Given the description of an element on the screen output the (x, y) to click on. 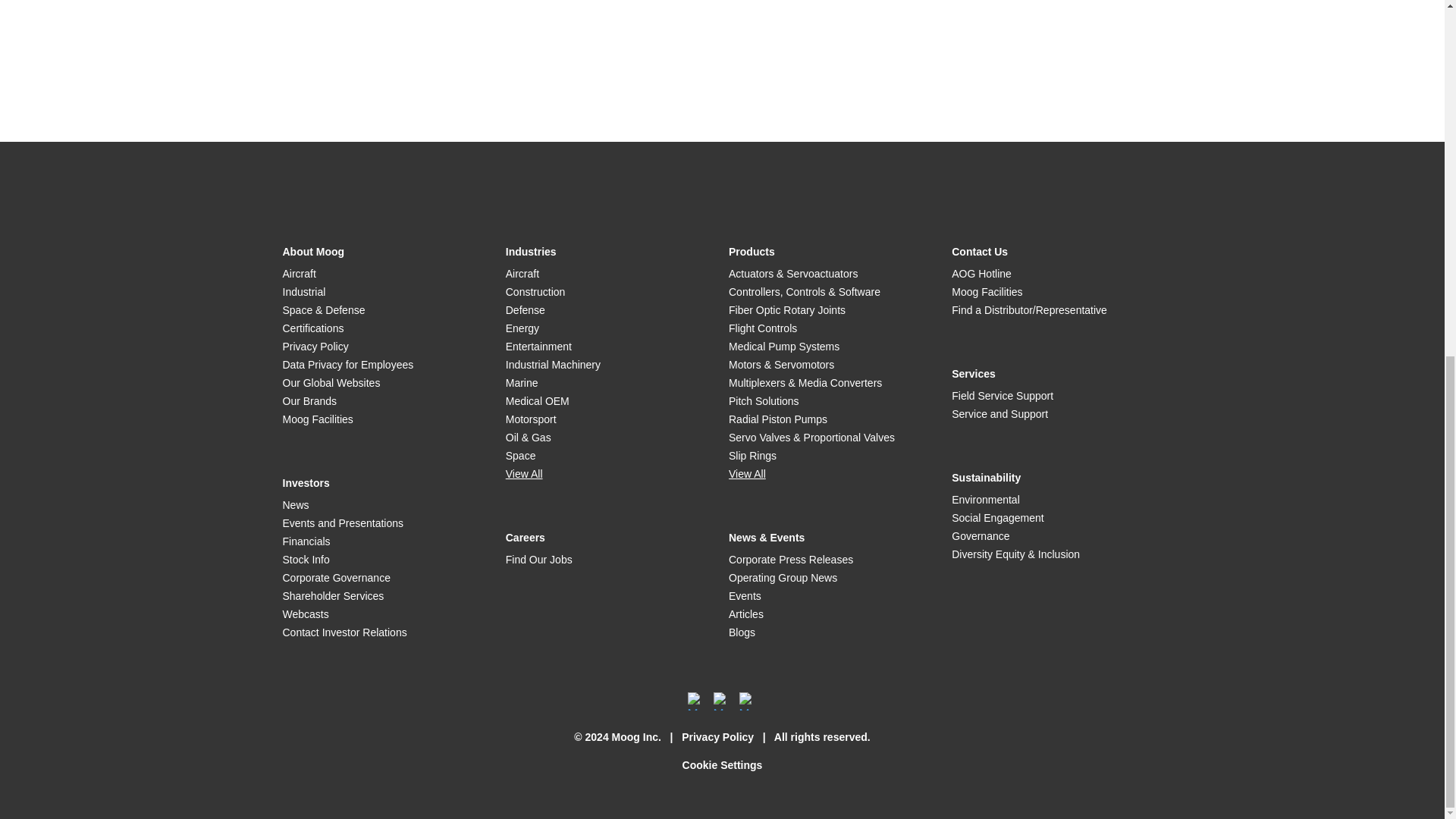
Privacy Policy (717, 736)
